Given the description of an element on the screen output the (x, y) to click on. 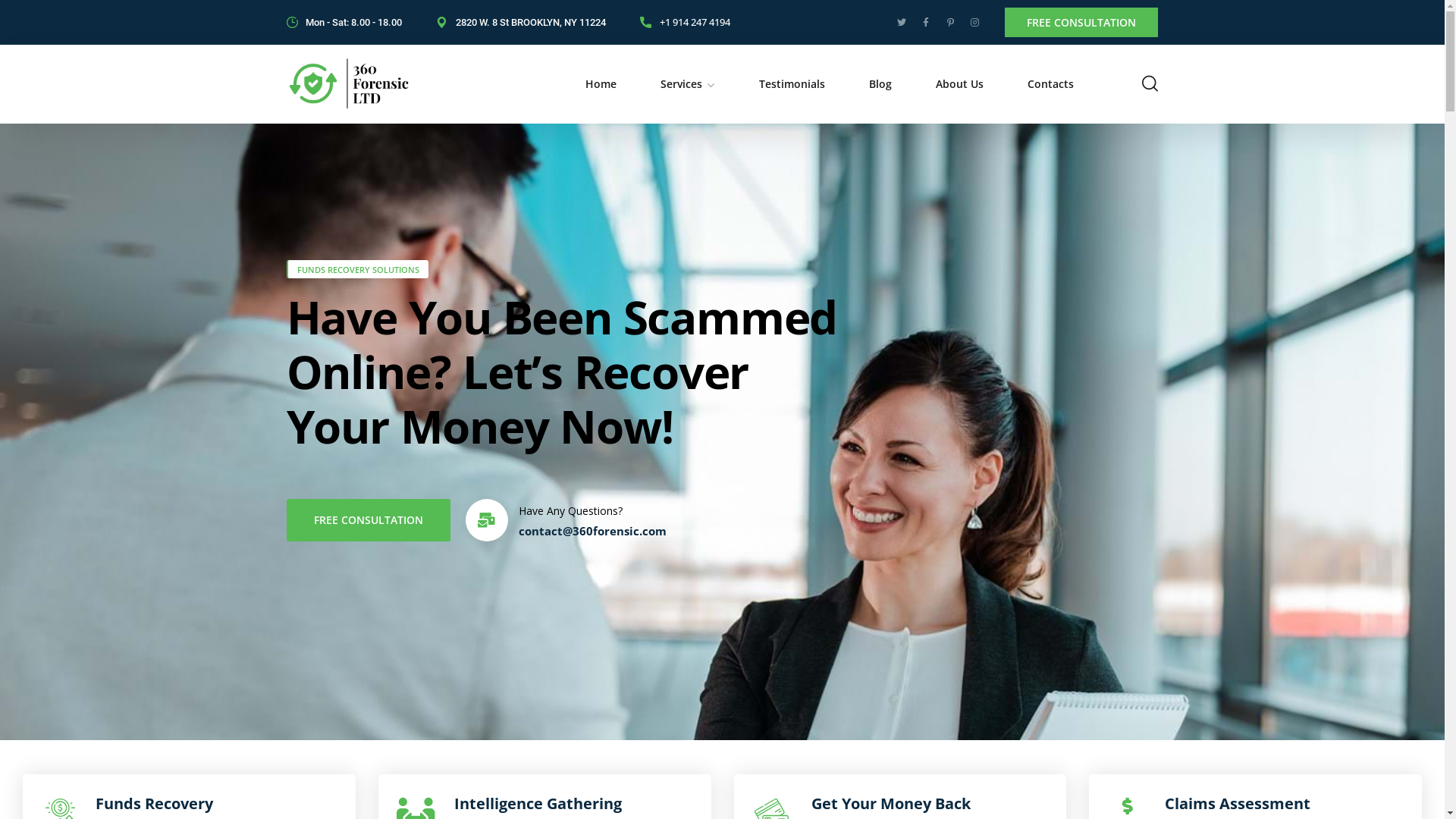
Intelligence Gathering Element type: text (537, 803)
FREE CONSULTATION Element type: text (368, 519)
+1 914 247 4194 Element type: text (685, 22)
FREE CONSULTATION Element type: text (1080, 22)
Claims Assessment Element type: text (1237, 803)
About Us Element type: text (959, 83)
Get Your Money Back Element type: text (890, 803)
Home Element type: text (600, 83)
Funds Recovery Element type: text (154, 803)
Contacts Element type: text (1049, 83)
Have Any Questions? Element type: text (570, 510)
Testimonials Element type: text (791, 83)
Blog Element type: text (880, 83)
Services Element type: text (686, 83)
